Given the description of an element on the screen output the (x, y) to click on. 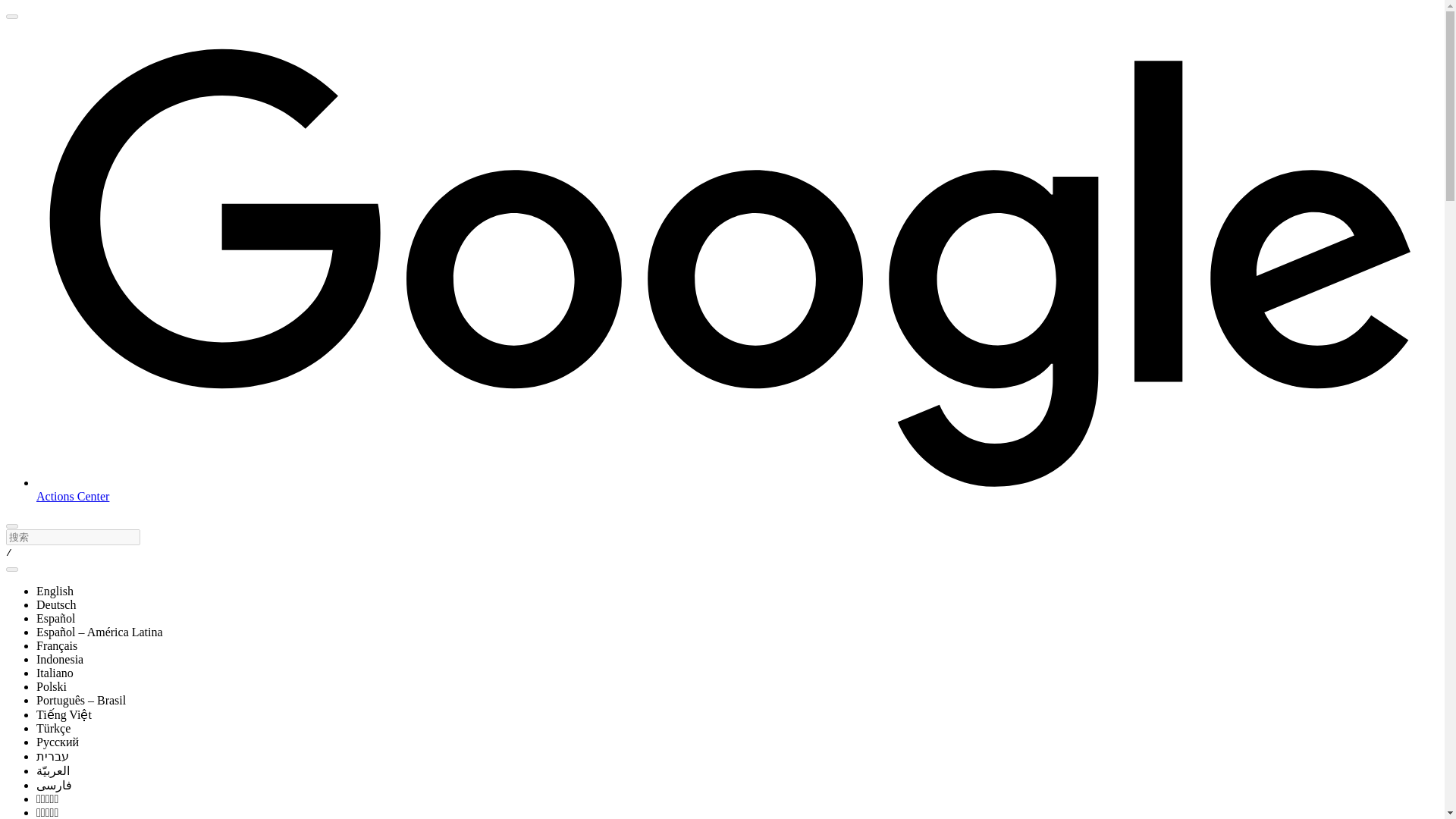
Italiano (55, 672)
Polski (51, 686)
English (55, 590)
Indonesia (59, 658)
Deutsch (55, 604)
